Given the description of an element on the screen output the (x, y) to click on. 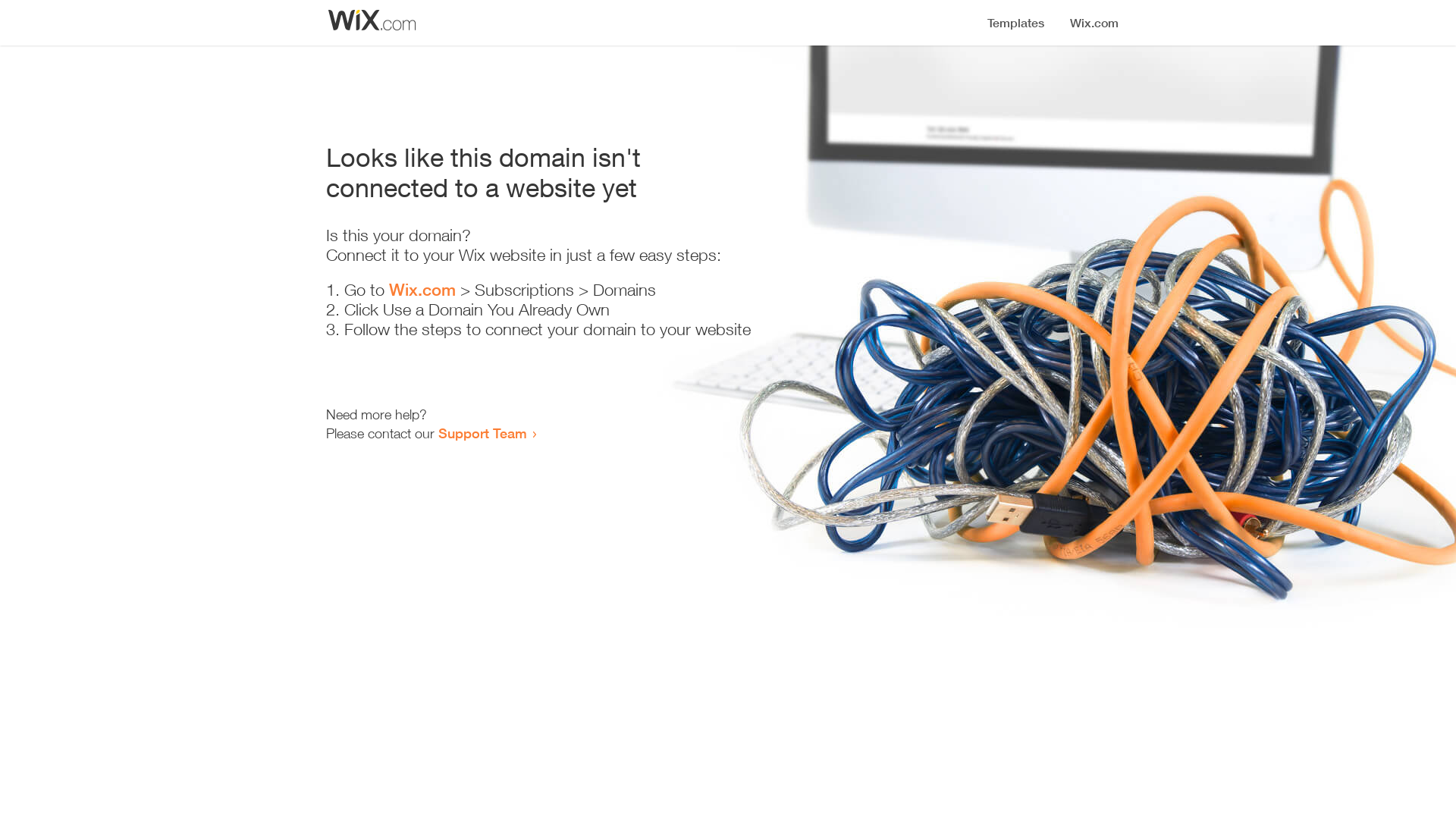
Wix.com Element type: text (422, 289)
Support Team Element type: text (482, 432)
